Given the description of an element on the screen output the (x, y) to click on. 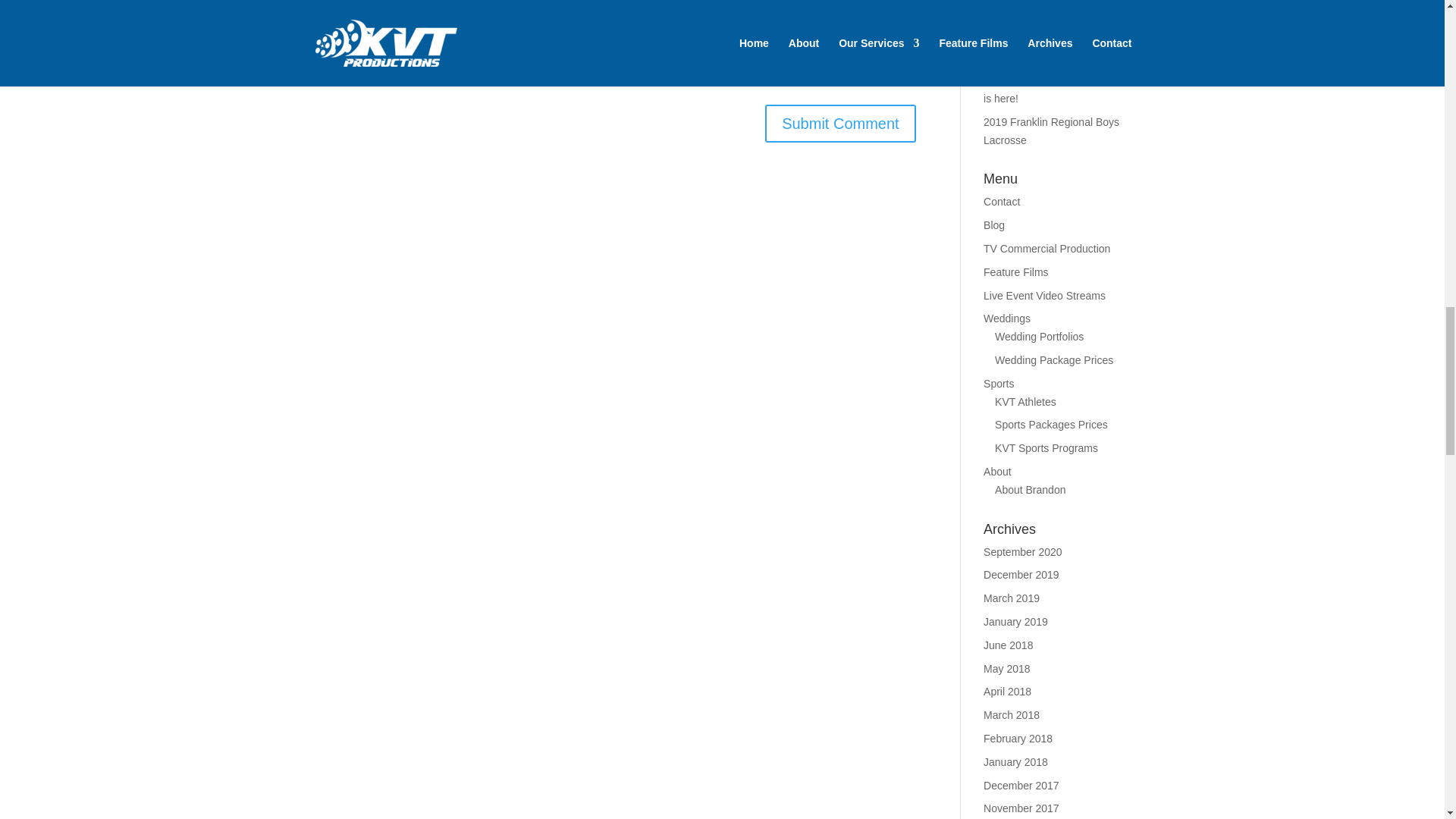
Submit Comment (840, 123)
subscribe (319, 71)
Submit Comment (840, 123)
yes (319, 4)
subscribe (319, 32)
